Given the description of an element on the screen output the (x, y) to click on. 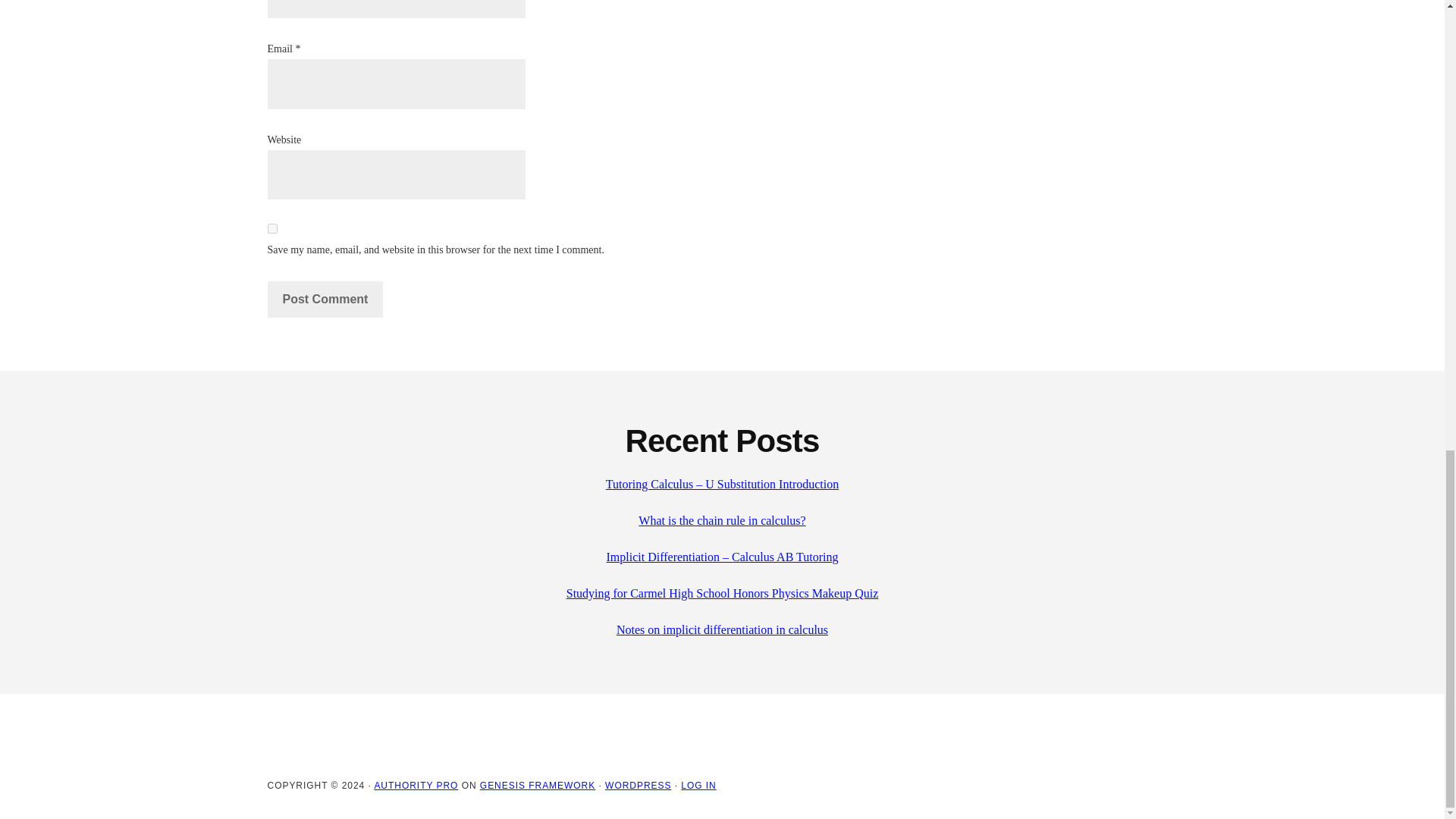
Notes on implicit differentiation in calculus (721, 629)
Post Comment (324, 299)
Studying for Carmel High School Honors Physics Makeup Quiz (722, 593)
Post Comment (324, 299)
LOG IN (698, 785)
yes (271, 228)
AUTHORITY PRO (416, 785)
WORDPRESS (638, 785)
GENESIS FRAMEWORK (537, 785)
What is the chain rule in calculus? (722, 520)
